Given the description of an element on the screen output the (x, y) to click on. 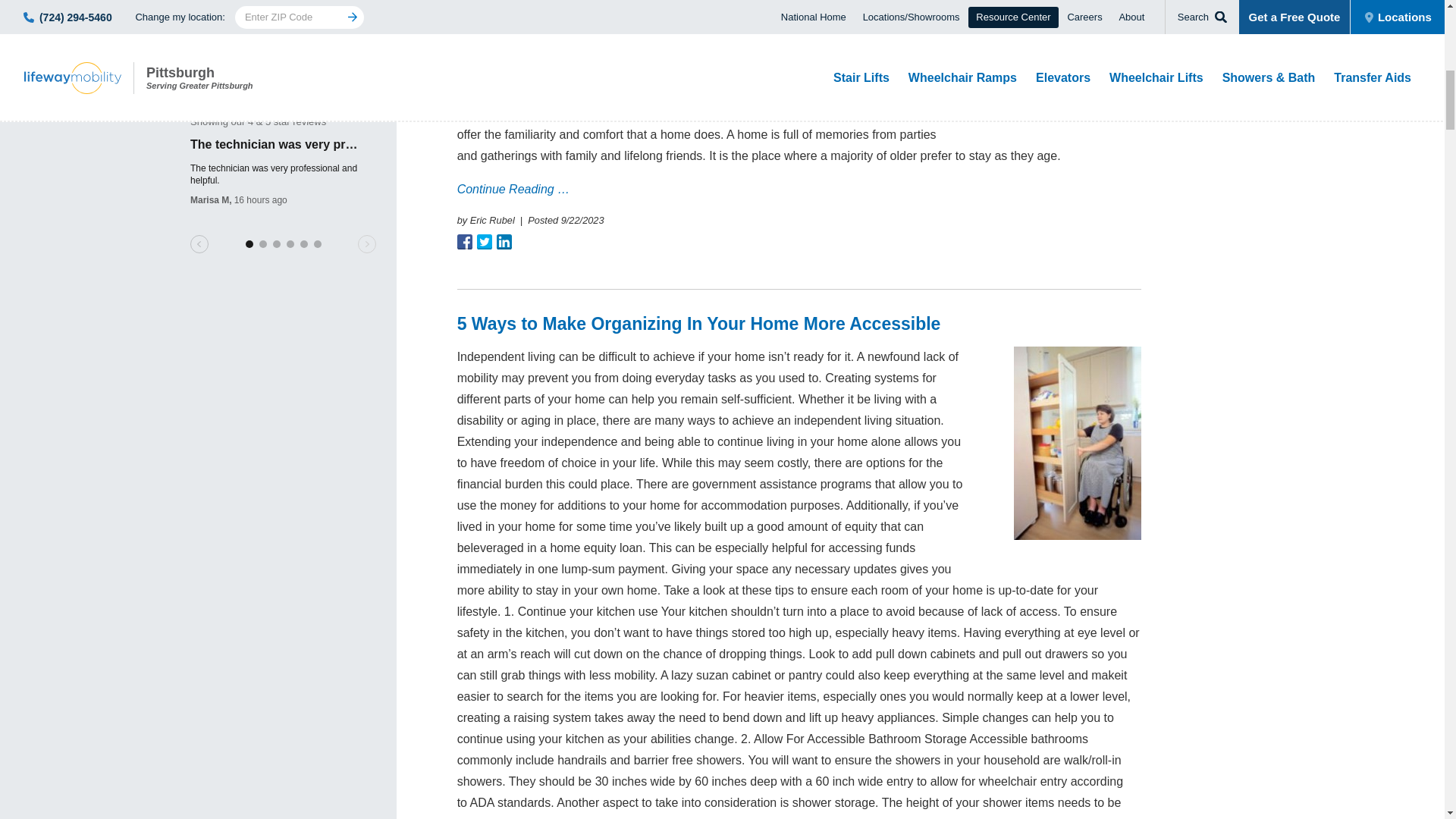
Share on Twitter (484, 241)
Share on Facebook (464, 241)
Share on LinkedIn (504, 241)
